Given the description of an element on the screen output the (x, y) to click on. 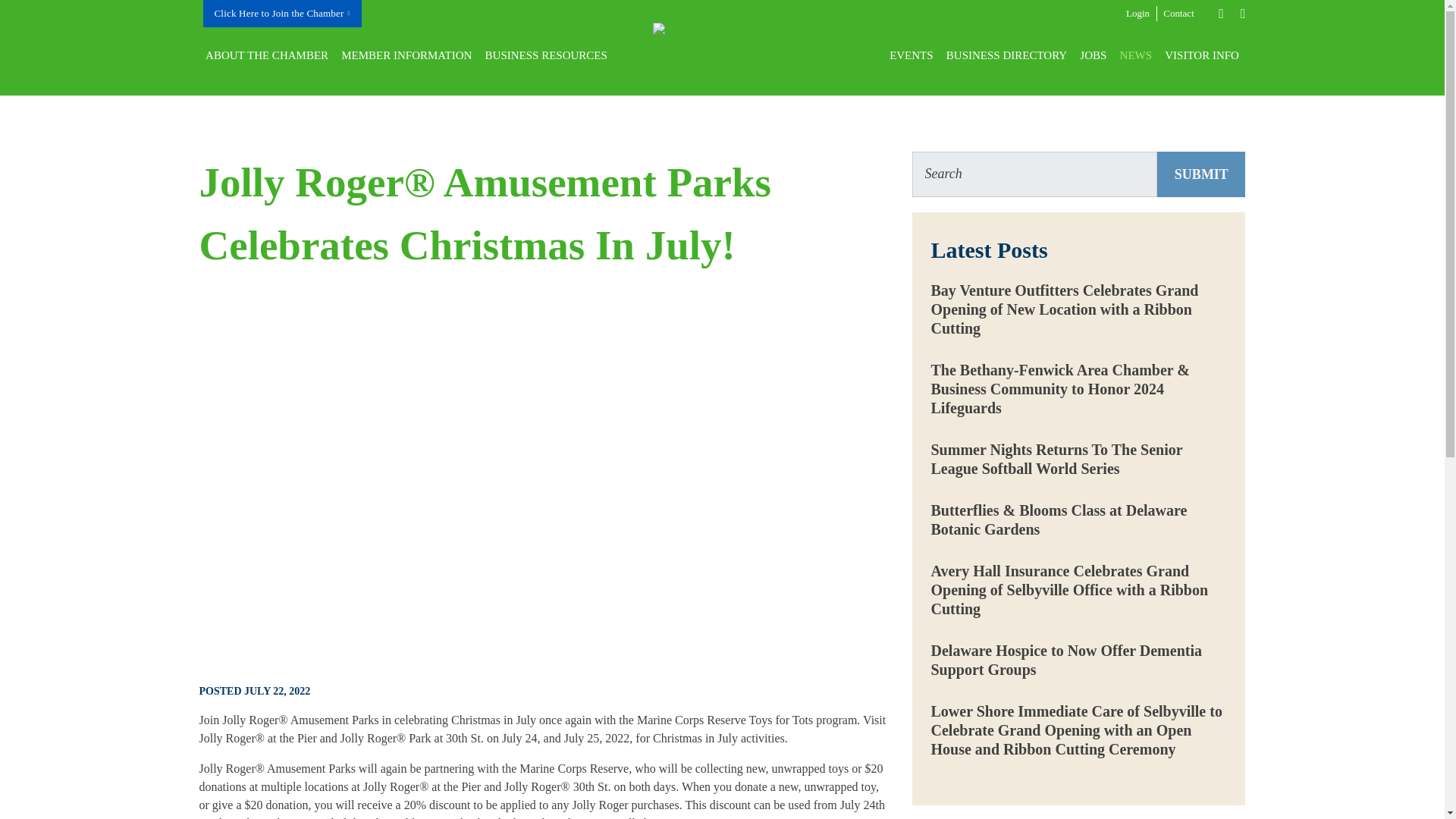
Click Here to Join the Chamber (282, 13)
ABOUT THE CHAMBER (266, 55)
JOBS (1093, 55)
MEMBER INFORMATION (406, 55)
Login (1137, 13)
Bethany-Fenwick Area Chamber of Commerce (763, 55)
Contact (1179, 13)
VISITOR INFO (1202, 55)
BUSINESS RESOURCES (545, 55)
EVENTS (911, 55)
NEWS (1135, 55)
BUSINESS DIRECTORY (1006, 55)
